Given the description of an element on the screen output the (x, y) to click on. 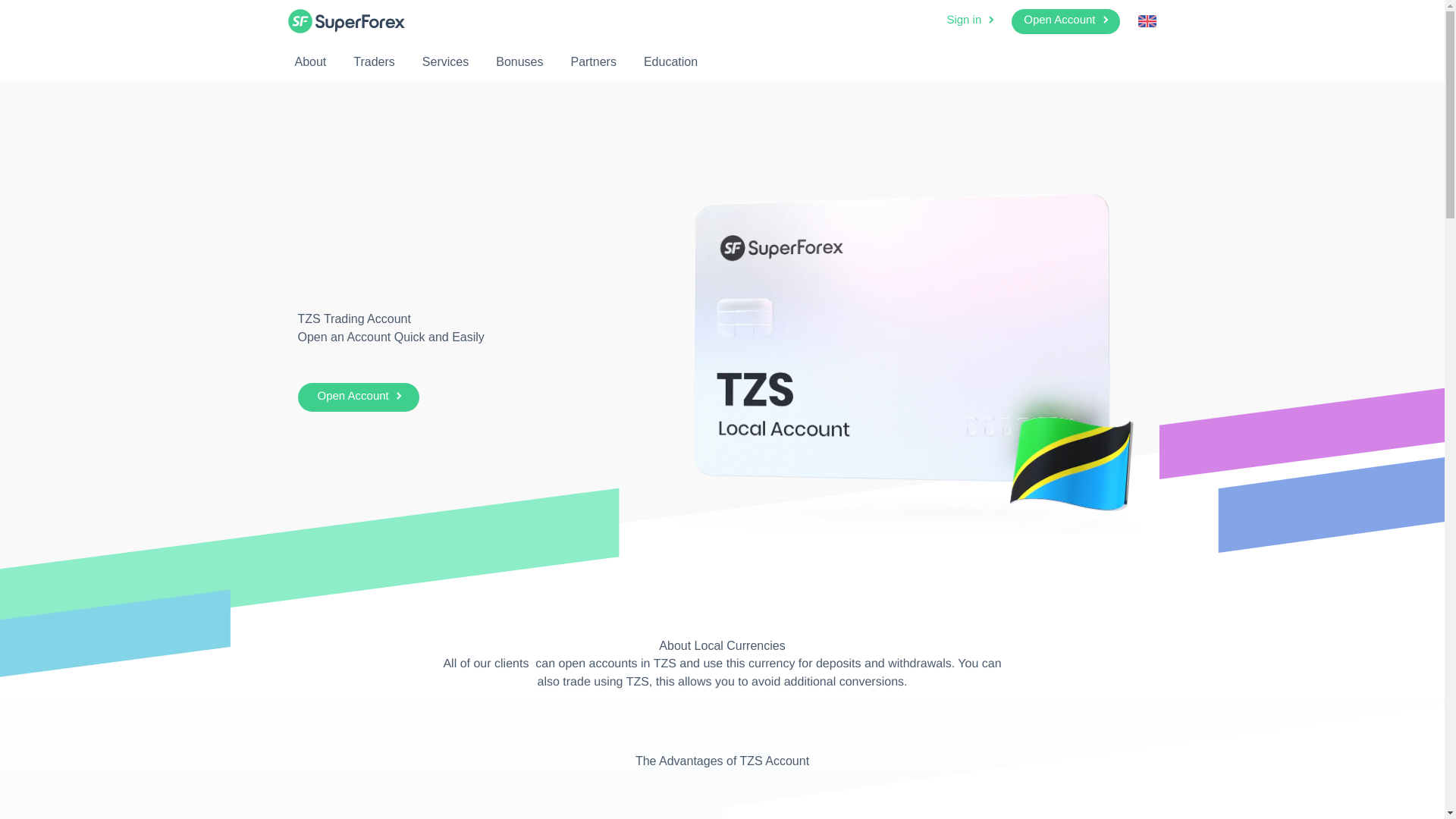
About (309, 61)
Sign in (970, 21)
Traders (373, 61)
Open Account (1065, 21)
Partners (592, 61)
Bonuses (518, 61)
Education (670, 61)
Open Account (358, 397)
Services (445, 61)
